Given the description of an element on the screen output the (x, y) to click on. 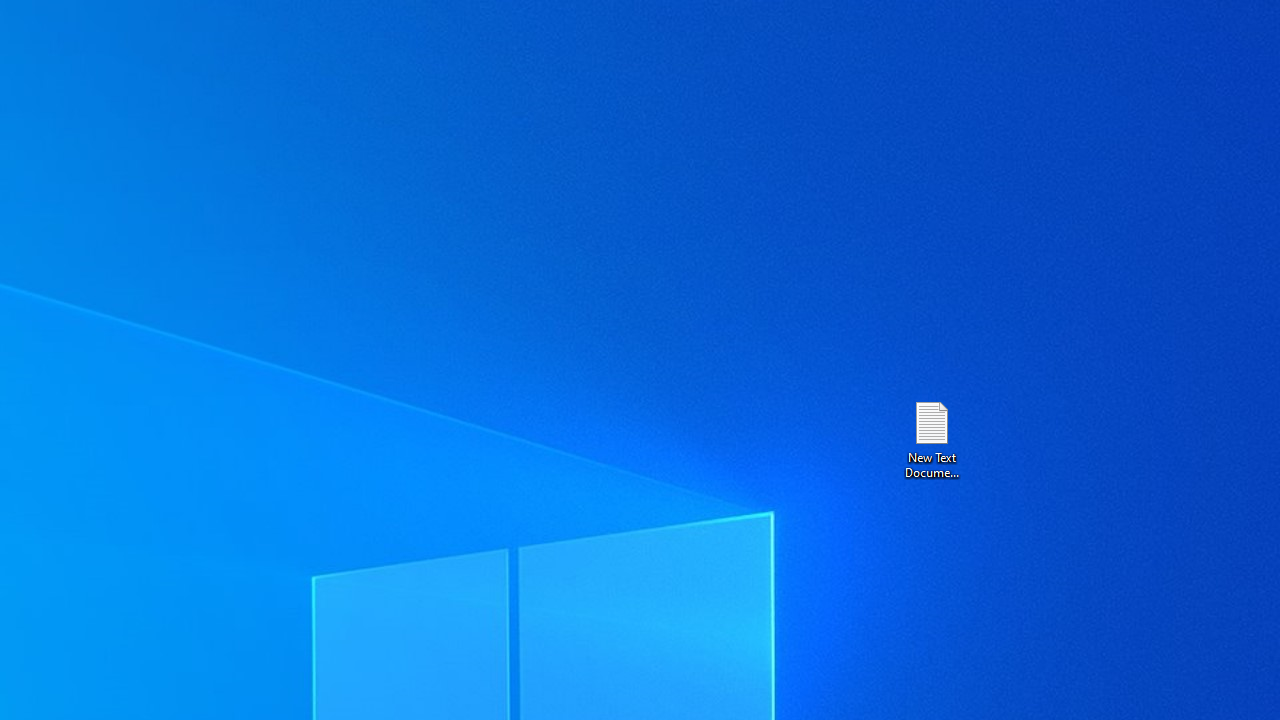
New Text Document (2) (931, 438)
